Given the description of an element on the screen output the (x, y) to click on. 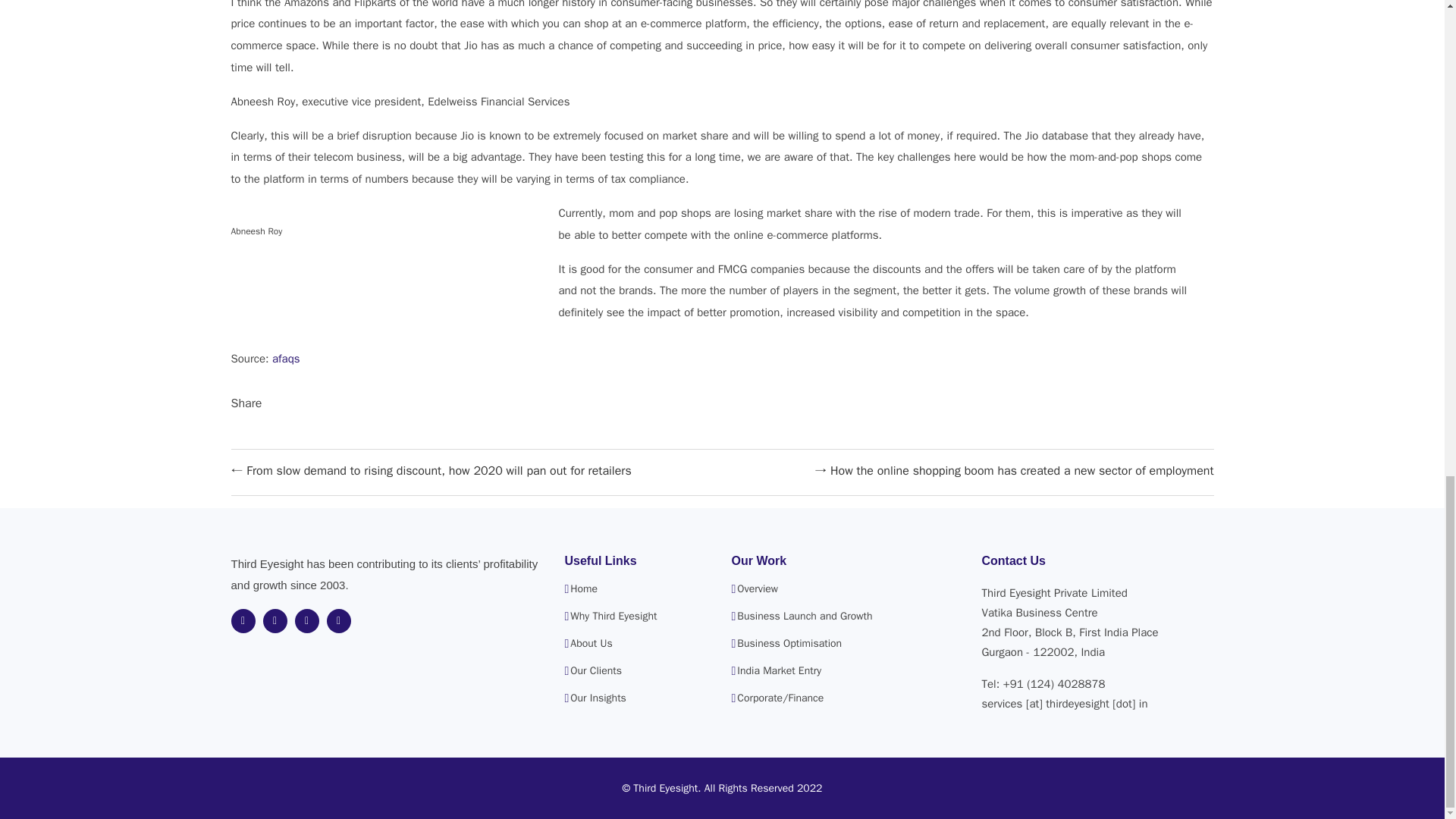
Business Launch and Growth (804, 615)
About Us (590, 643)
afaqs (285, 358)
Overview (756, 588)
Our Clients (595, 670)
Why Third Eyesight (613, 615)
Home (583, 588)
Our Insights (598, 697)
Our Work (758, 560)
